Given the description of an element on the screen output the (x, y) to click on. 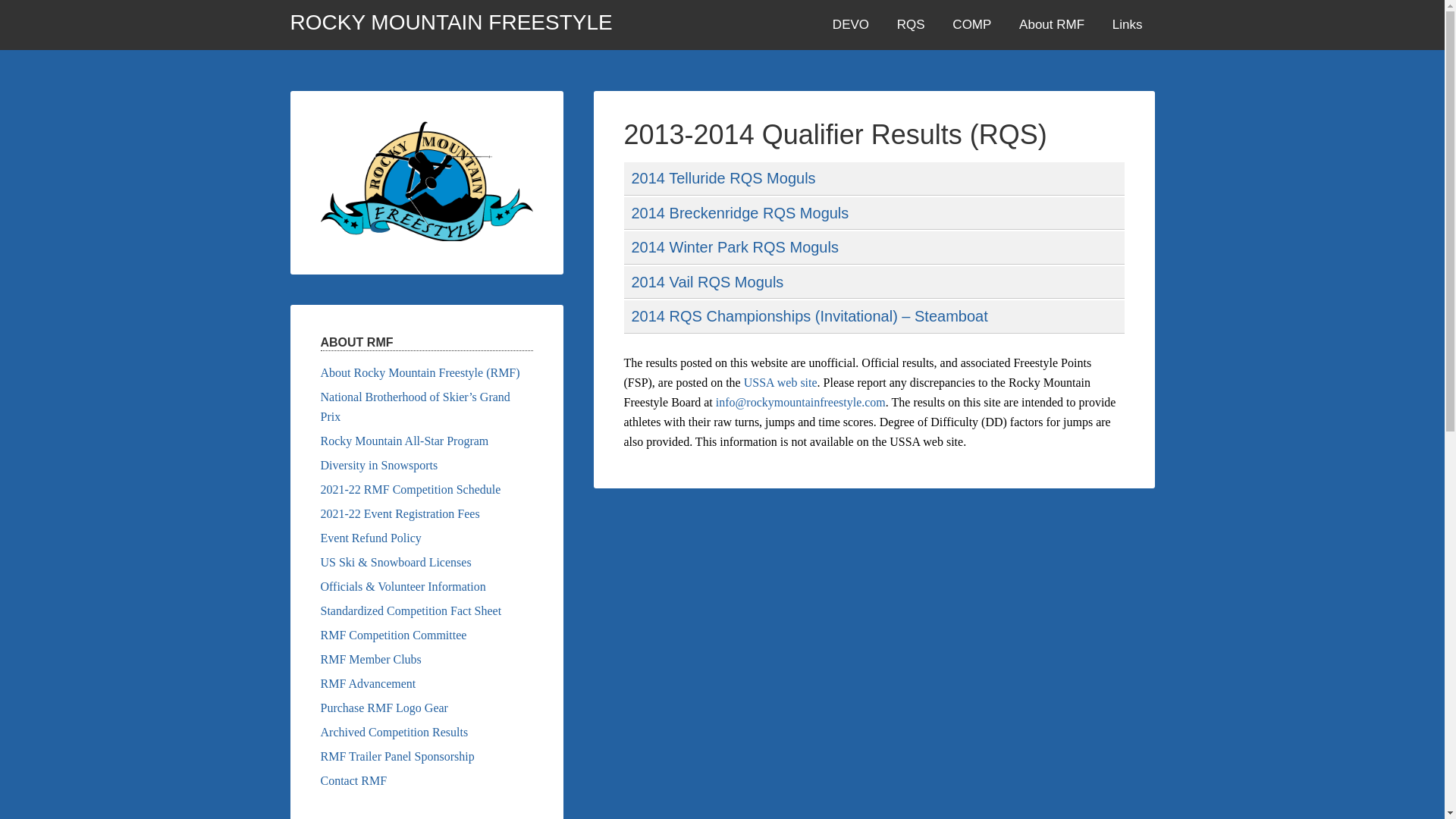
USSA web site (780, 382)
Standardized Competition Fact Sheet (410, 610)
2021-22 Event Registration Fees (399, 513)
2014 Telluride RQS Moguls (722, 177)
RQS (911, 24)
RMF Trailer Panel Sponsorship (397, 756)
DEVO (850, 24)
Rocky Mountain All-Star Program (403, 440)
2021-22 RMF Competition Schedule (410, 489)
2014 Vail RQS Moguls (706, 281)
